Given the description of an element on the screen output the (x, y) to click on. 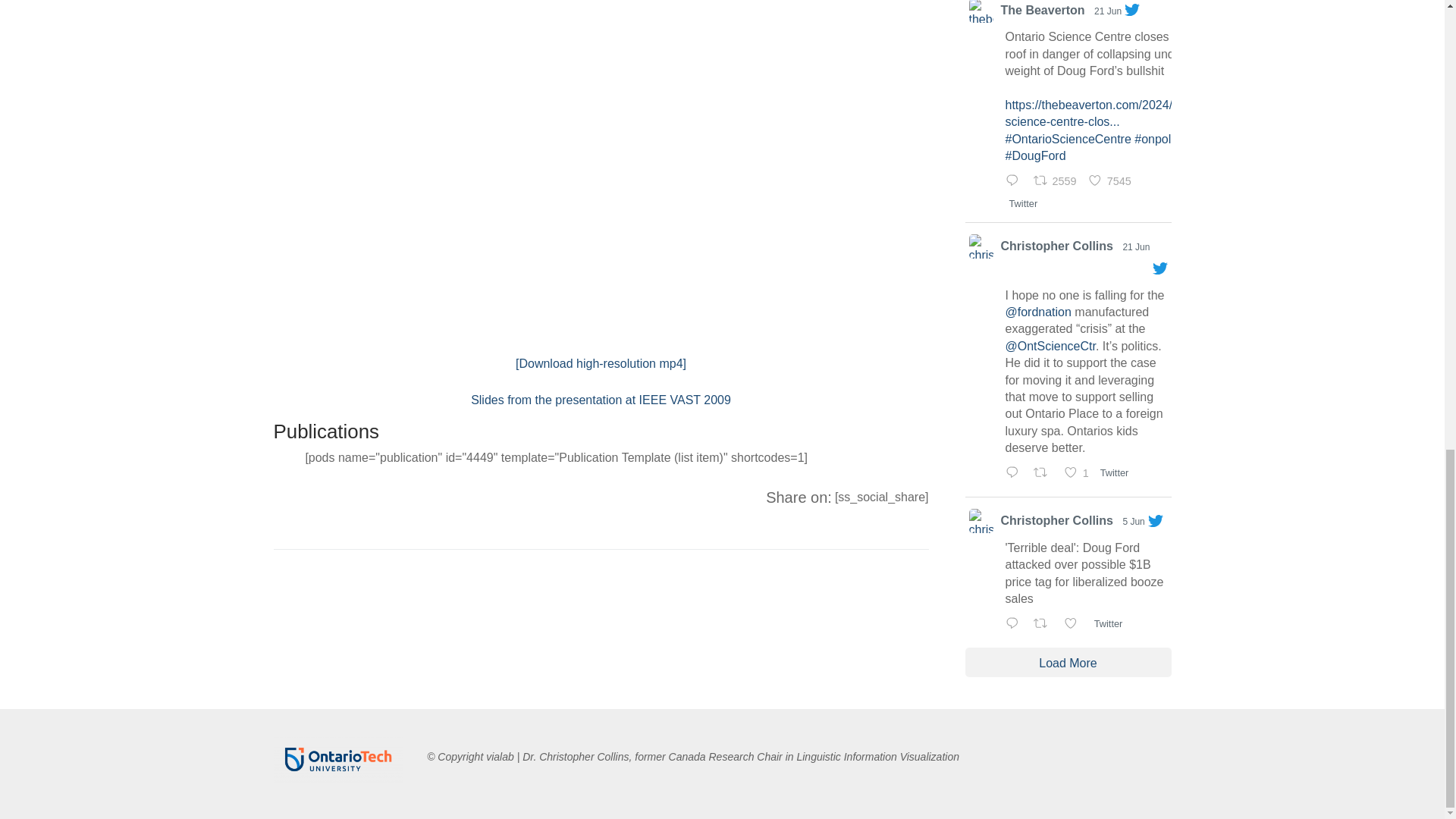
Slides from the presentation at IEEE VAST 2009 (600, 399)
